Given the description of an element on the screen output the (x, y) to click on. 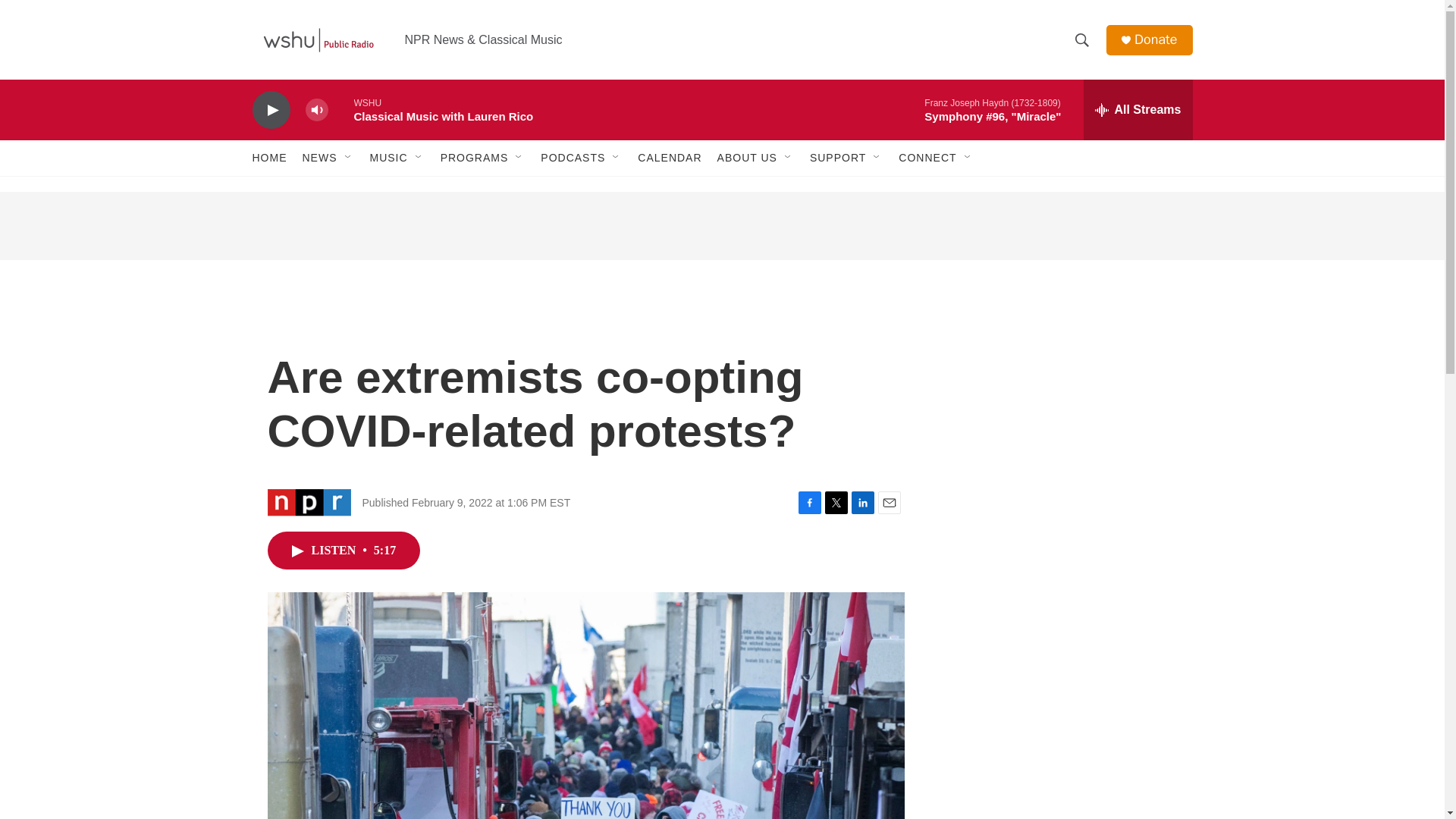
3rd party ad content (1062, 782)
3rd party ad content (1062, 400)
3rd party ad content (1062, 619)
3rd party ad content (721, 225)
